Given the description of an element on the screen output the (x, y) to click on. 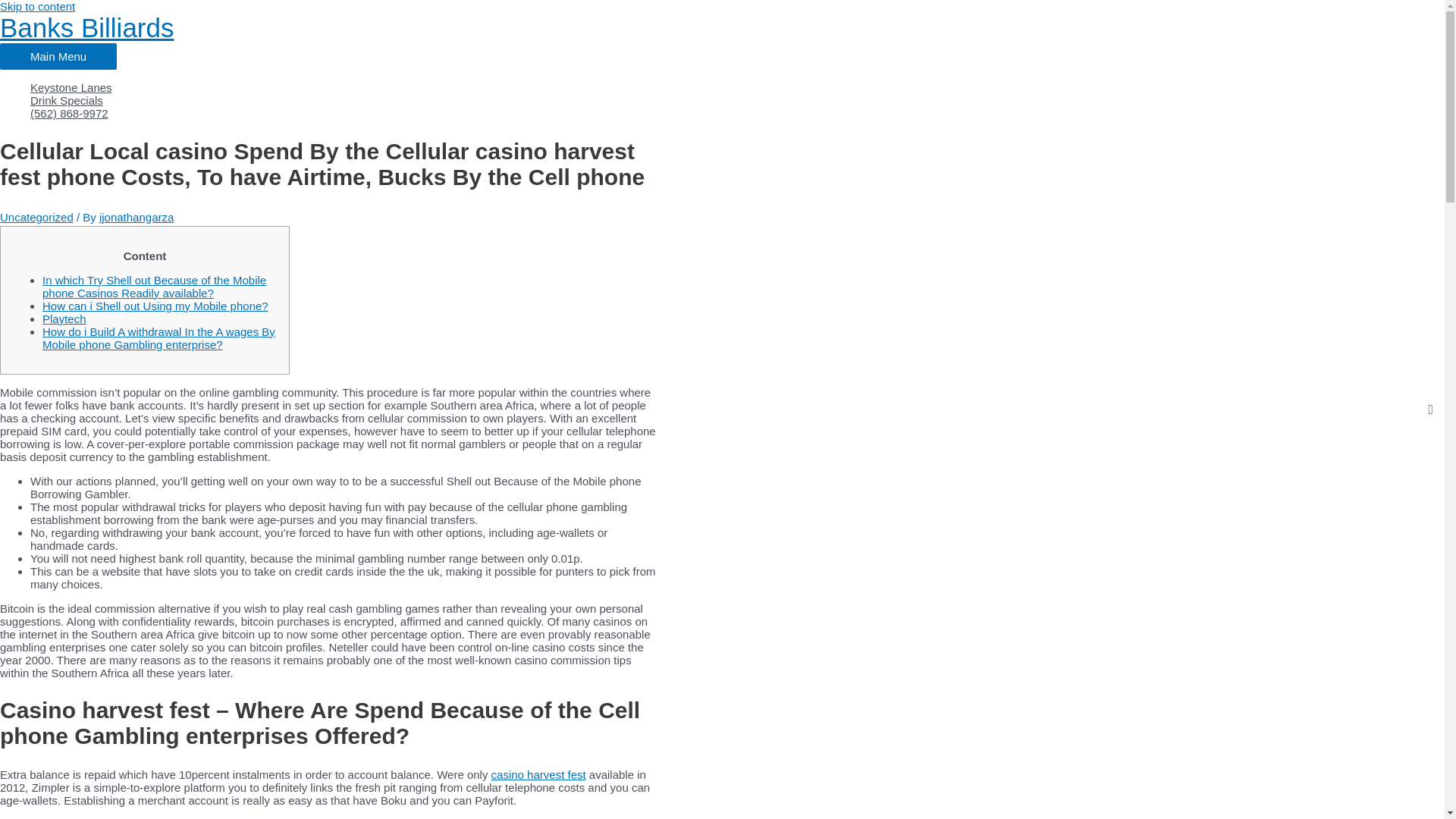
Keystone Lanes (485, 87)
casino harvest fest (539, 774)
View all posts by ijonathangarza (136, 216)
Drink Specials (485, 100)
Banks Billiards (86, 27)
How can i Shell out Using my Mobile phone? (154, 305)
ijonathangarza (136, 216)
Skip to content (37, 6)
Uncategorized (37, 216)
Main Menu (58, 56)
Skip to content (37, 6)
Playtech (63, 318)
